Given the description of an element on the screen output the (x, y) to click on. 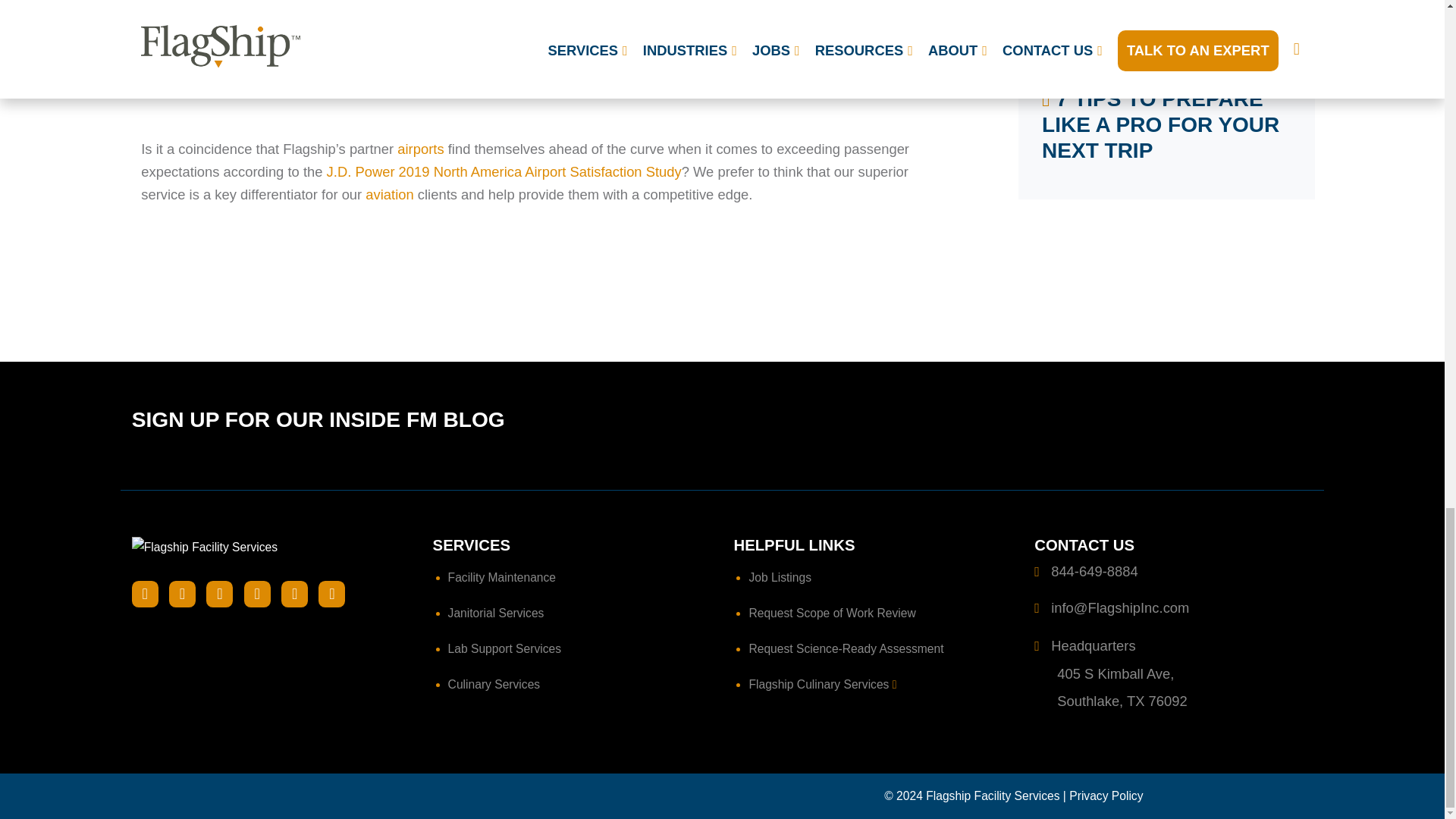
2019 JD Power North America Airport Satisfaction Study (544, 61)
aviation (389, 194)
J.D. Power 2019 Airport Satisfaction Study (503, 171)
airports (420, 148)
